Given the description of an element on the screen output the (x, y) to click on. 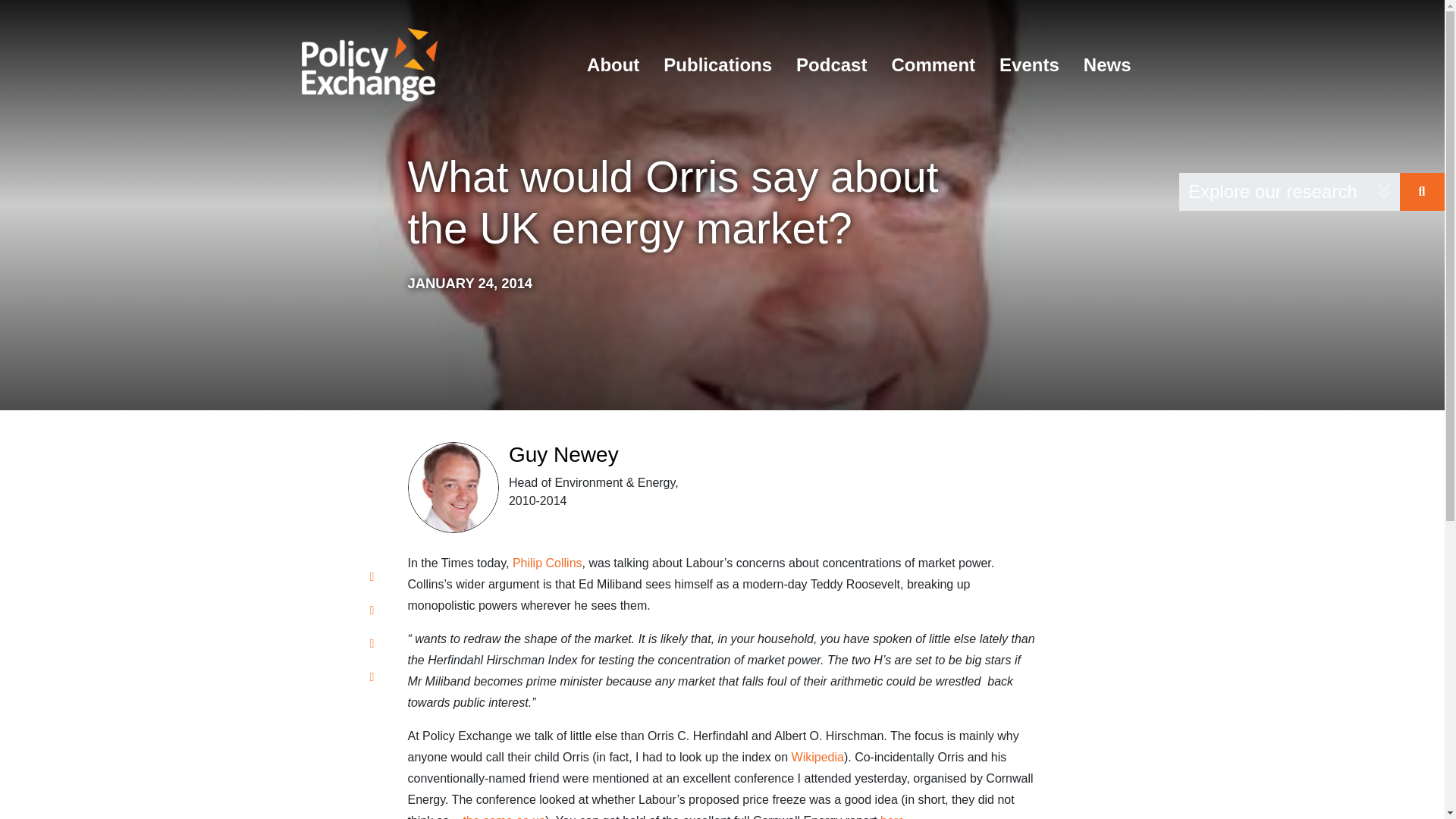
News (1107, 64)
Publications (717, 64)
Comment (933, 64)
Podcast (831, 64)
About (612, 64)
Events (1028, 64)
